Given the description of an element on the screen output the (x, y) to click on. 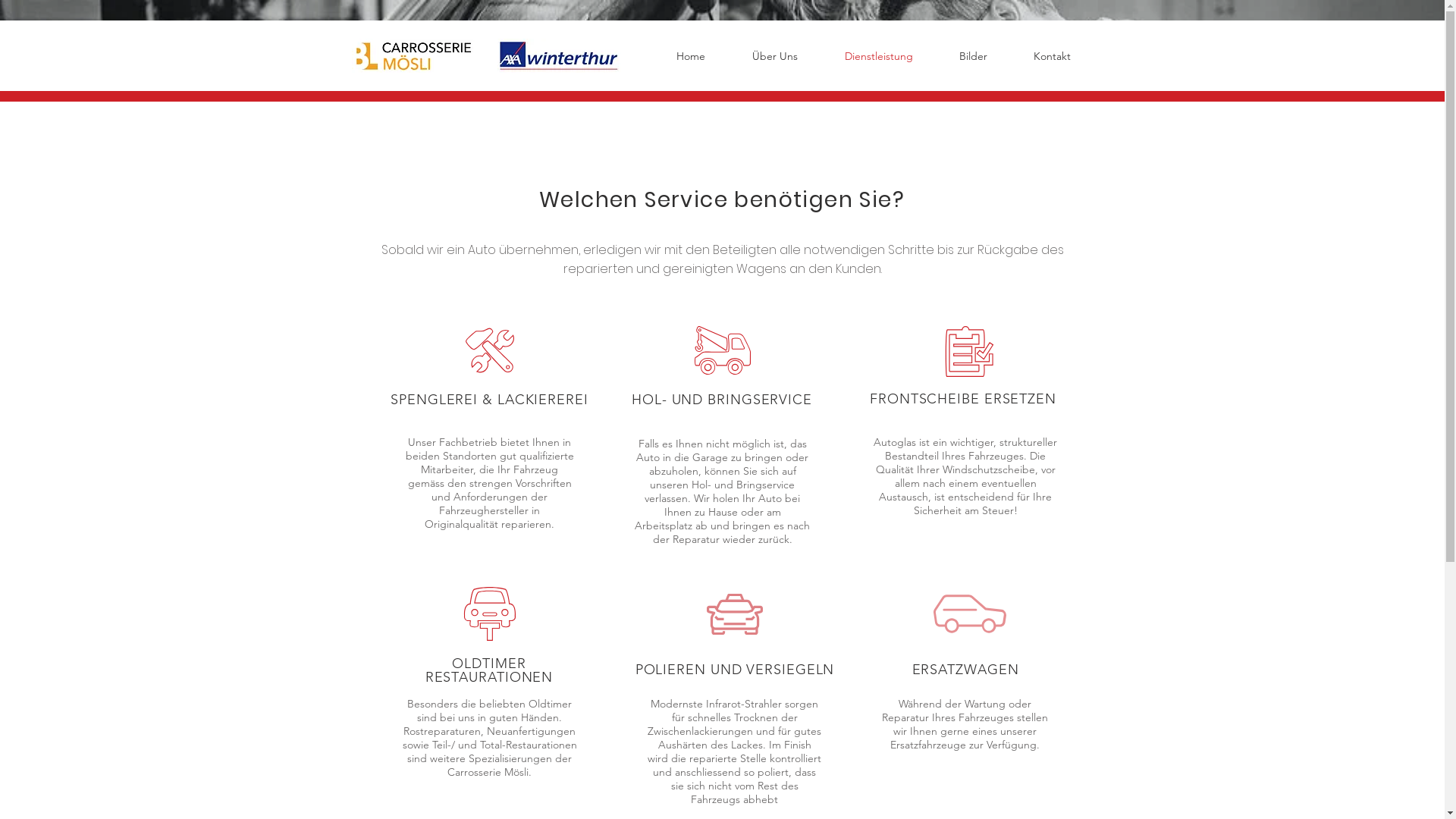
Home Element type: text (690, 56)
Kontakt Element type: text (1051, 56)
Bilder Element type: text (972, 56)
Dienstleistung Element type: text (877, 56)
